Given the description of an element on the screen output the (x, y) to click on. 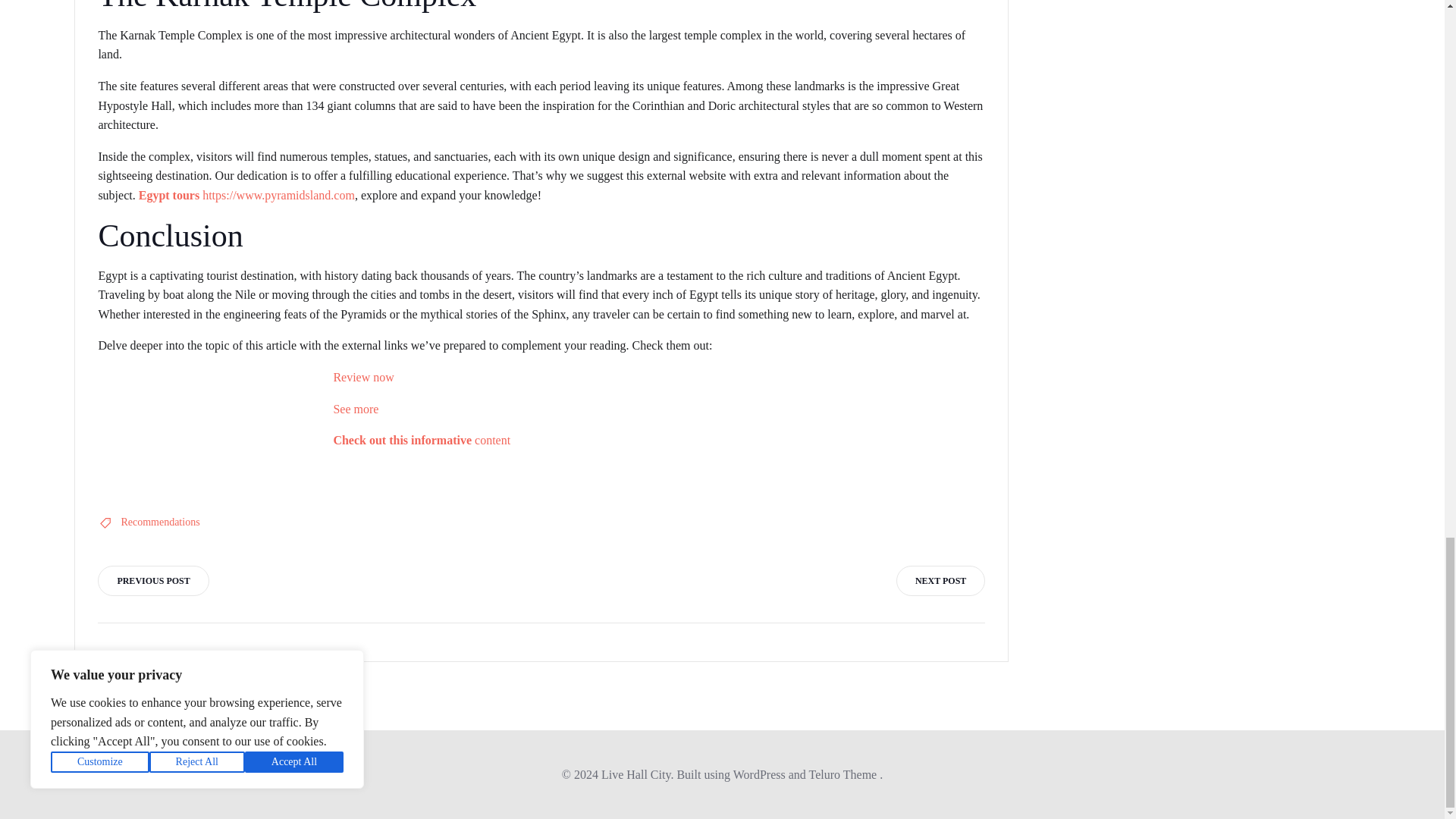
Recommendations (159, 522)
Review now (363, 377)
See more (355, 408)
NEXT POST (940, 580)
PREVIOUS POST (152, 580)
Check out this informative content (422, 440)
Tag: Recommendations (159, 522)
